Given the description of an element on the screen output the (x, y) to click on. 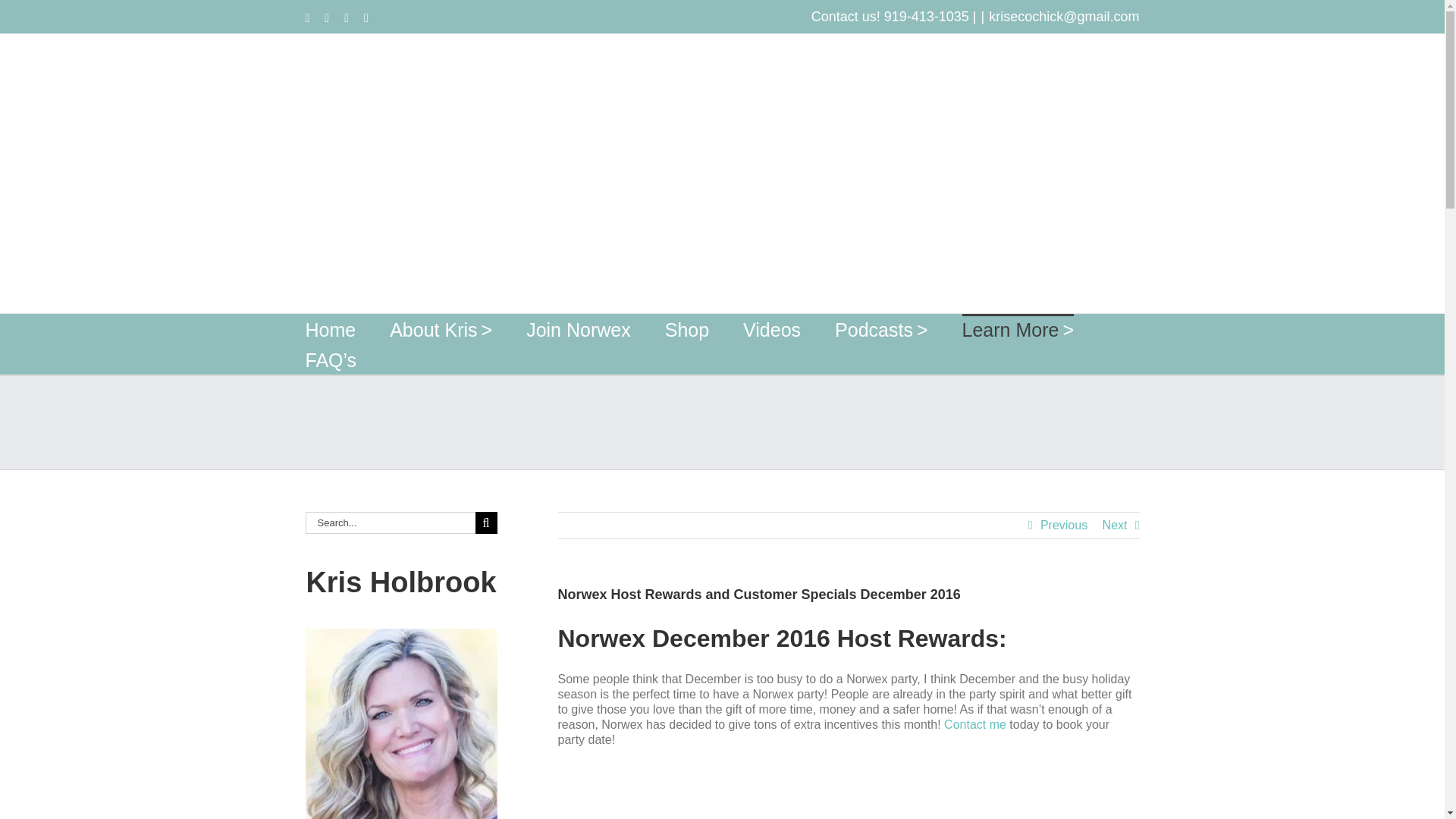
Shop (687, 328)
Contact me (974, 724)
Learn More (1018, 328)
Home (329, 328)
Videos (771, 328)
Podcasts (880, 328)
Join Norwex (577, 328)
About Kris (441, 328)
Next (1114, 525)
Previous (1064, 525)
